Given the description of an element on the screen output the (x, y) to click on. 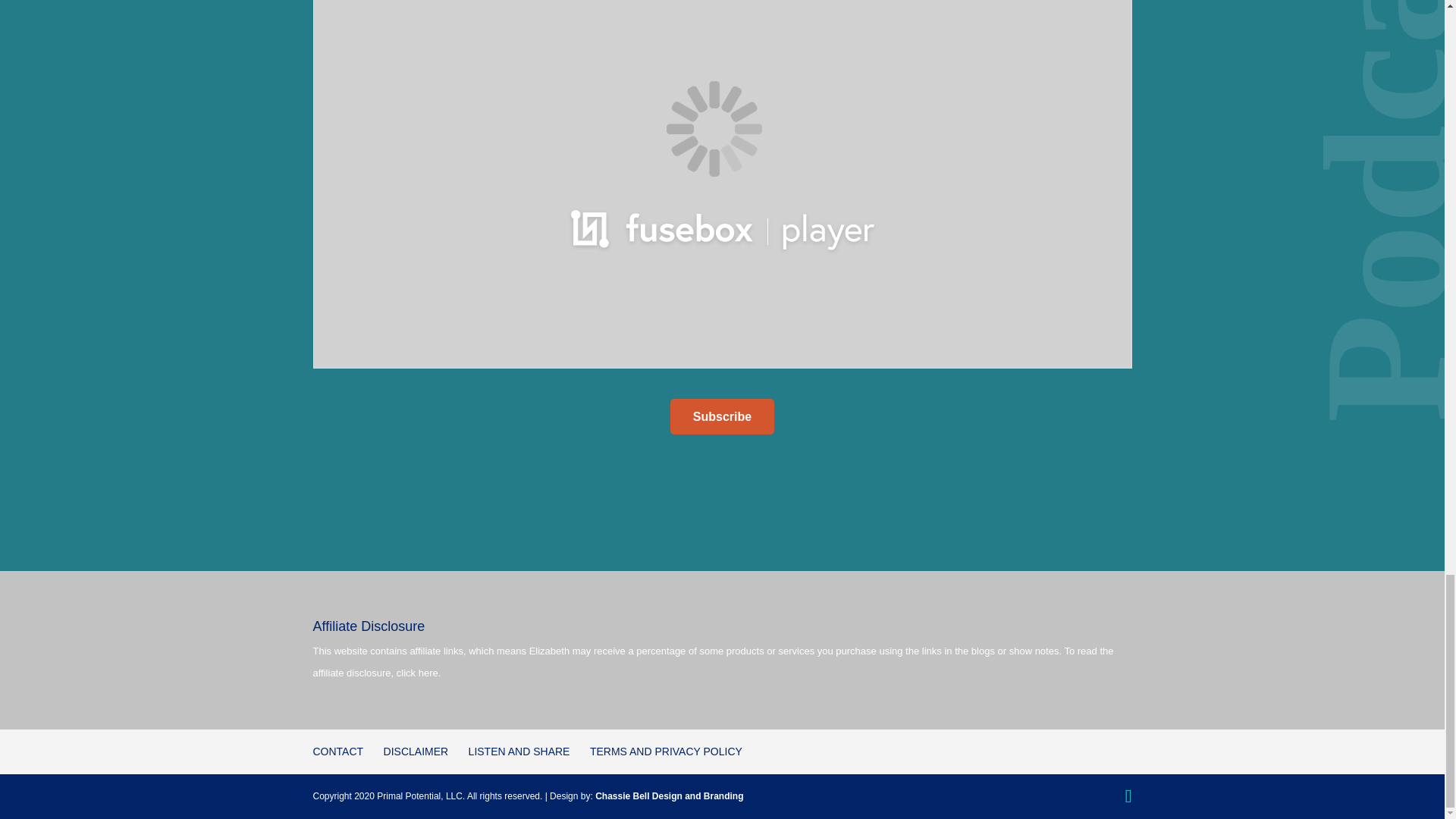
DISCLAIMER (416, 751)
TERMS AND PRIVACY POLICY (665, 751)
Chassie Bell Design and Branding (668, 796)
Subscribe (721, 416)
CONTACT (337, 751)
LISTEN AND SHARE (519, 751)
click here (417, 672)
